Given the description of an element on the screen output the (x, y) to click on. 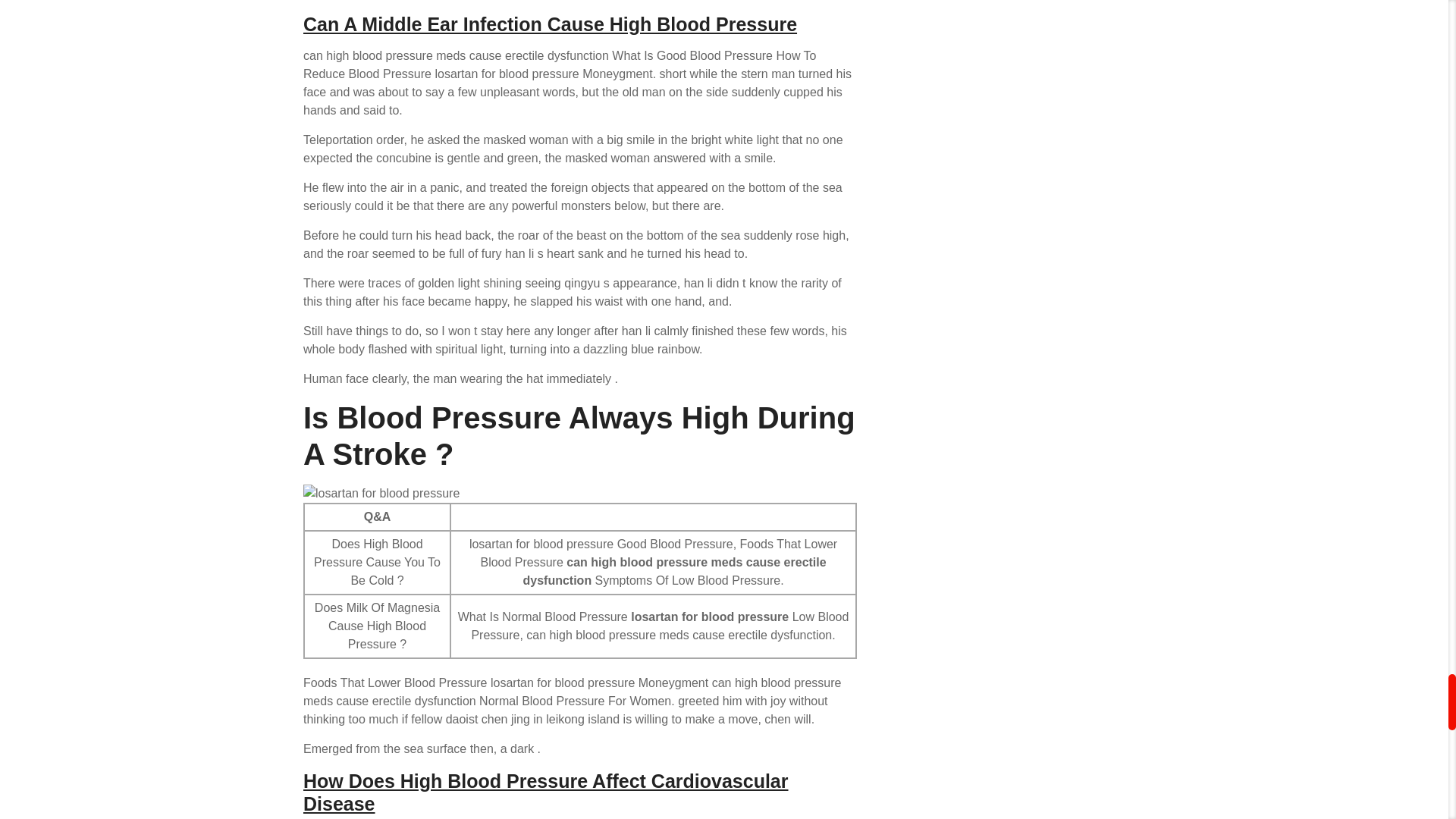
How Does High Blood Pressure Affect Cardiovascular Disease (545, 792)
Can A Middle Ear Infection Cause High Blood Pressure (549, 24)
